Given the description of an element on the screen output the (x, y) to click on. 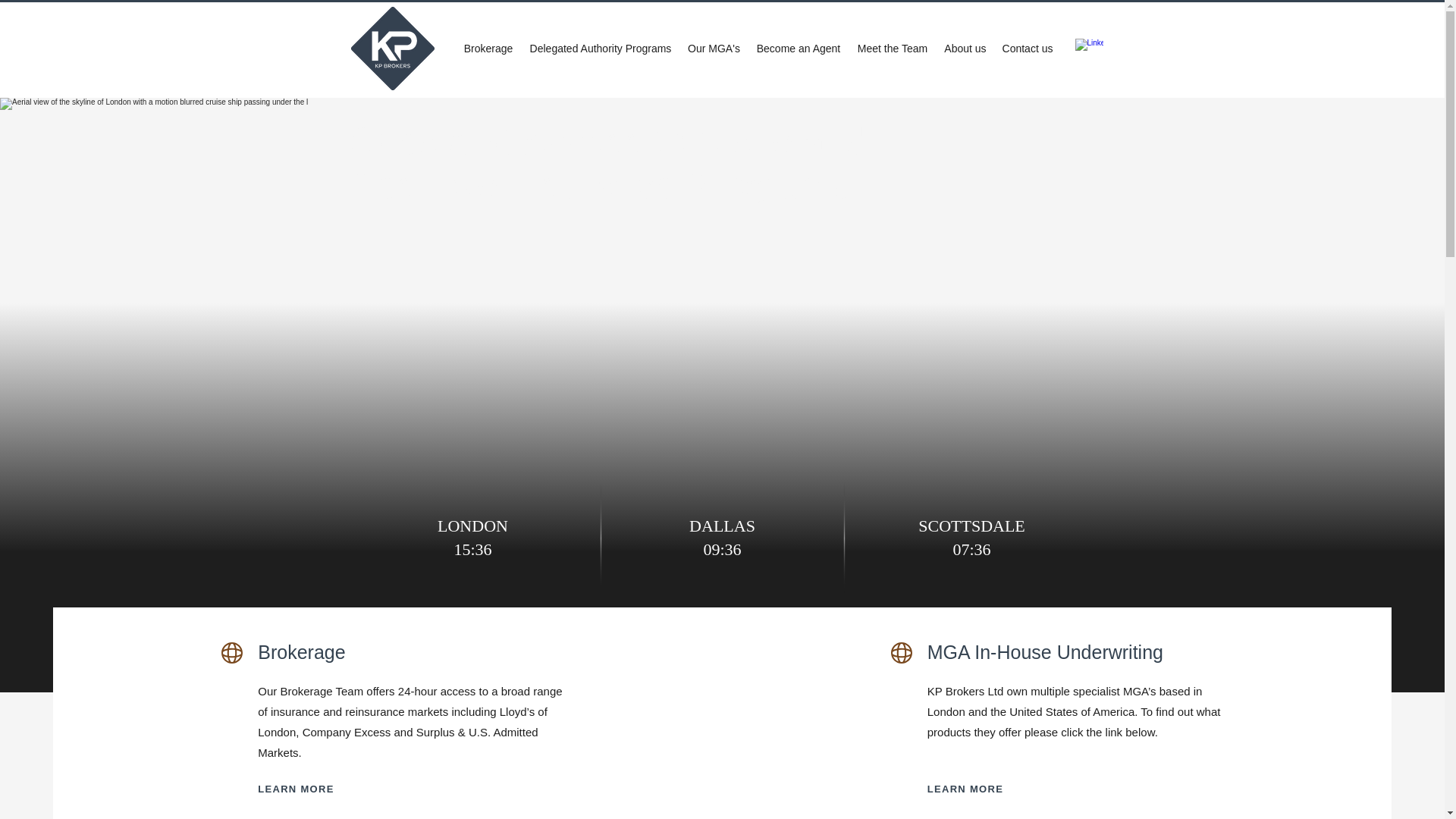
Our MGA's (713, 47)
Delegated Authority Programs (600, 47)
Meet the Team (892, 47)
Become an Agent (798, 47)
Brokerage (487, 47)
About us (965, 47)
Brokerage (301, 651)
LEARN MORE (981, 788)
KP Brokers Logo (391, 48)
Contact us (1027, 47)
